Given the description of an element on the screen output the (x, y) to click on. 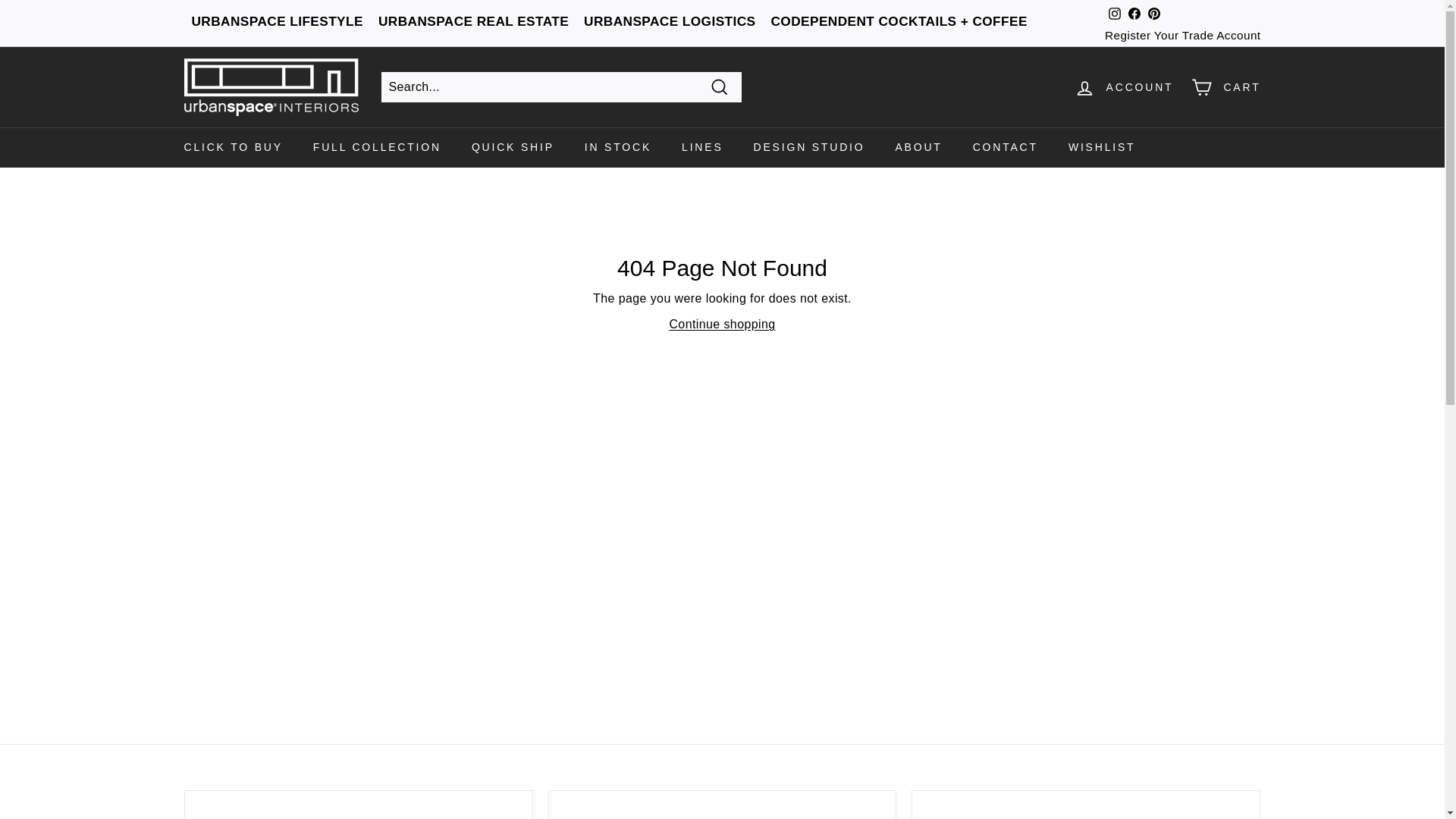
URBANSPACE REAL ESTATE (473, 20)
Register Your Trade Account (1182, 34)
URBANSPACE LIFESTYLE (276, 20)
URBANSPACE LOGISTICS (669, 20)
CLICK TO BUY (232, 147)
ACCOUNT (1123, 87)
